Given the description of an element on the screen output the (x, y) to click on. 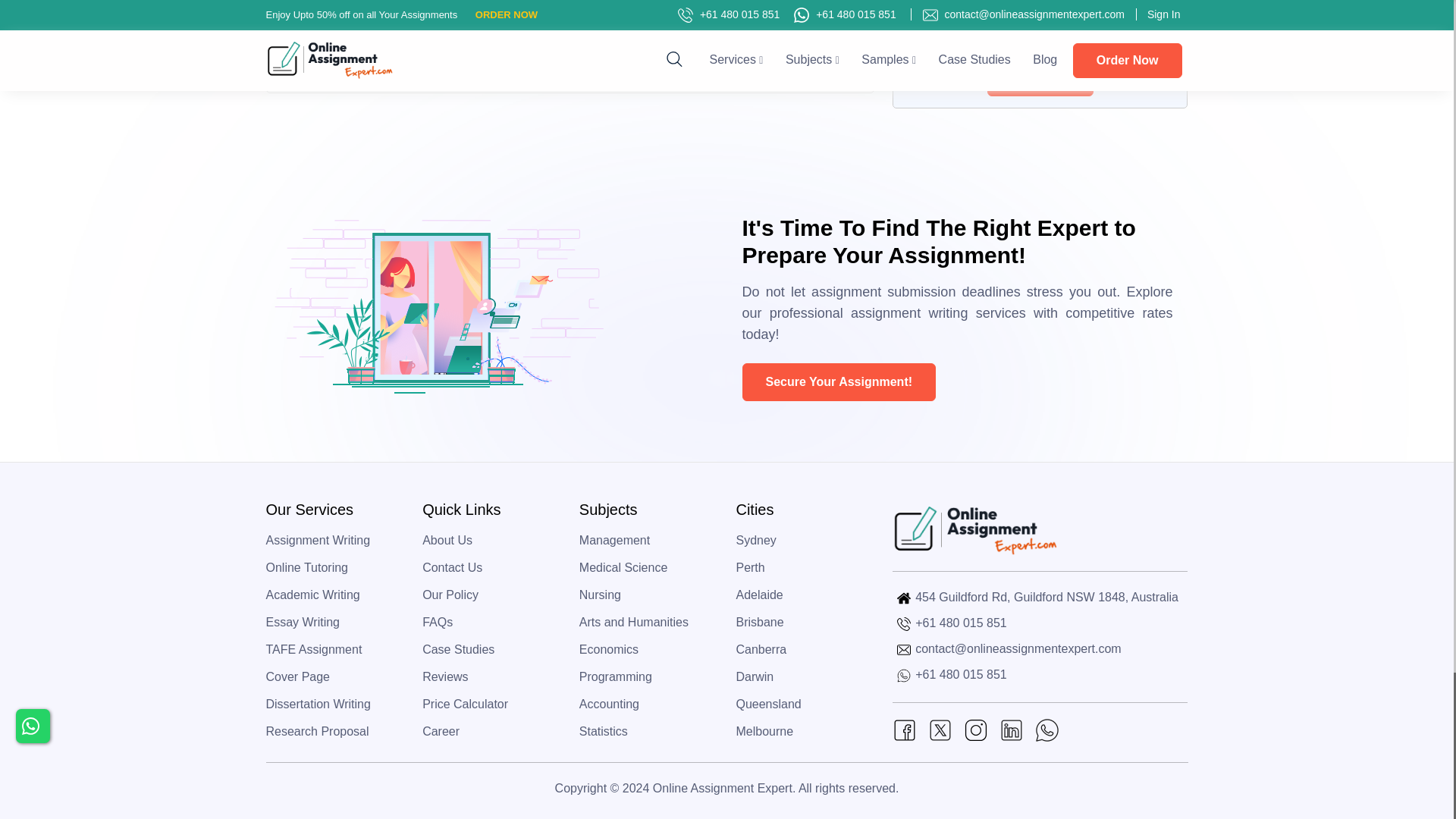
Follow us on WhatsApp (1047, 729)
Follow us on Twitter (940, 729)
Follow us on Facebook (904, 729)
Follow us on LinkedIn (1010, 729)
Follow us on Instagram (975, 729)
